Given the description of an element on the screen output the (x, y) to click on. 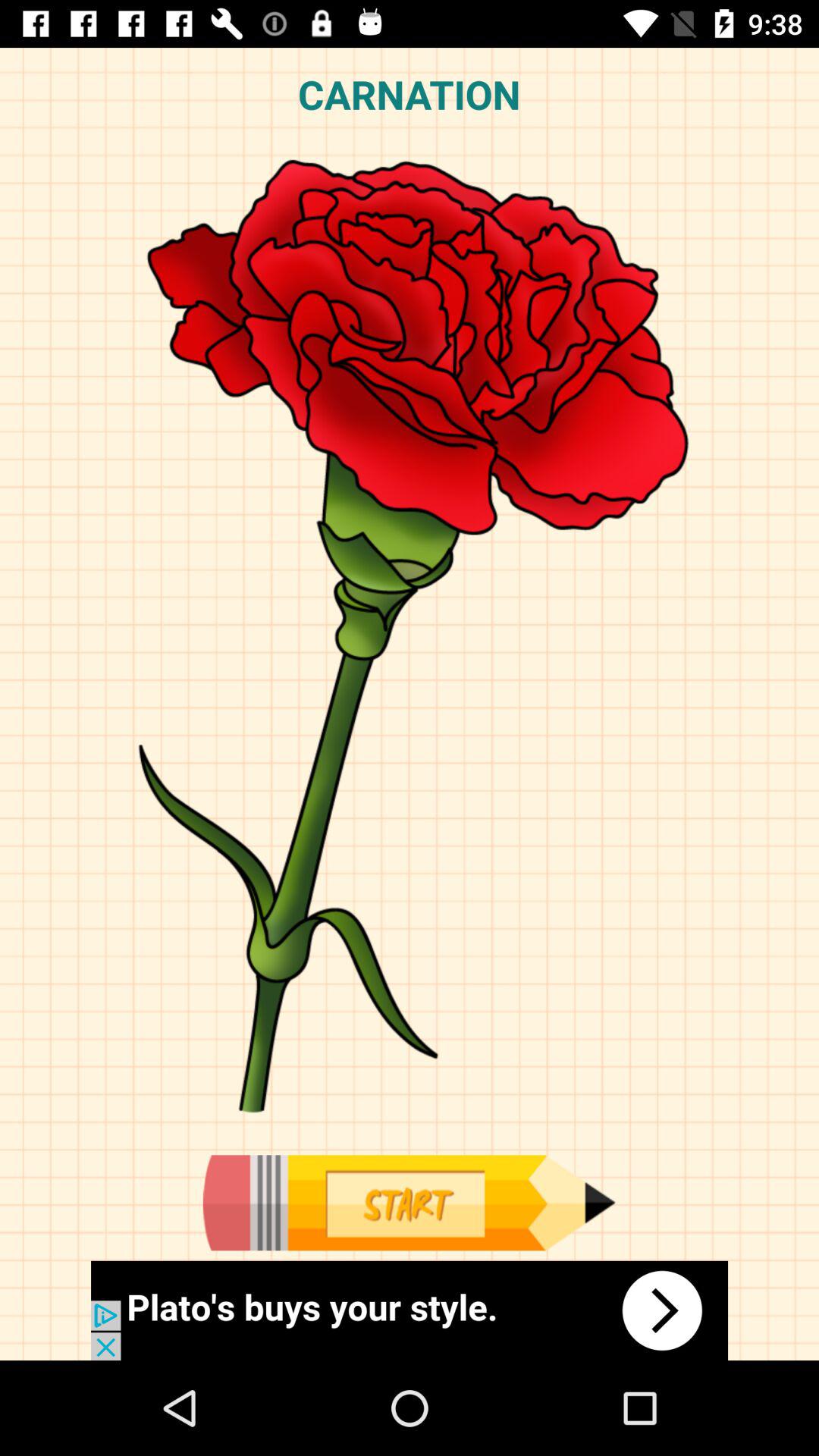
open advertisement (409, 1310)
